Given the description of an element on the screen output the (x, y) to click on. 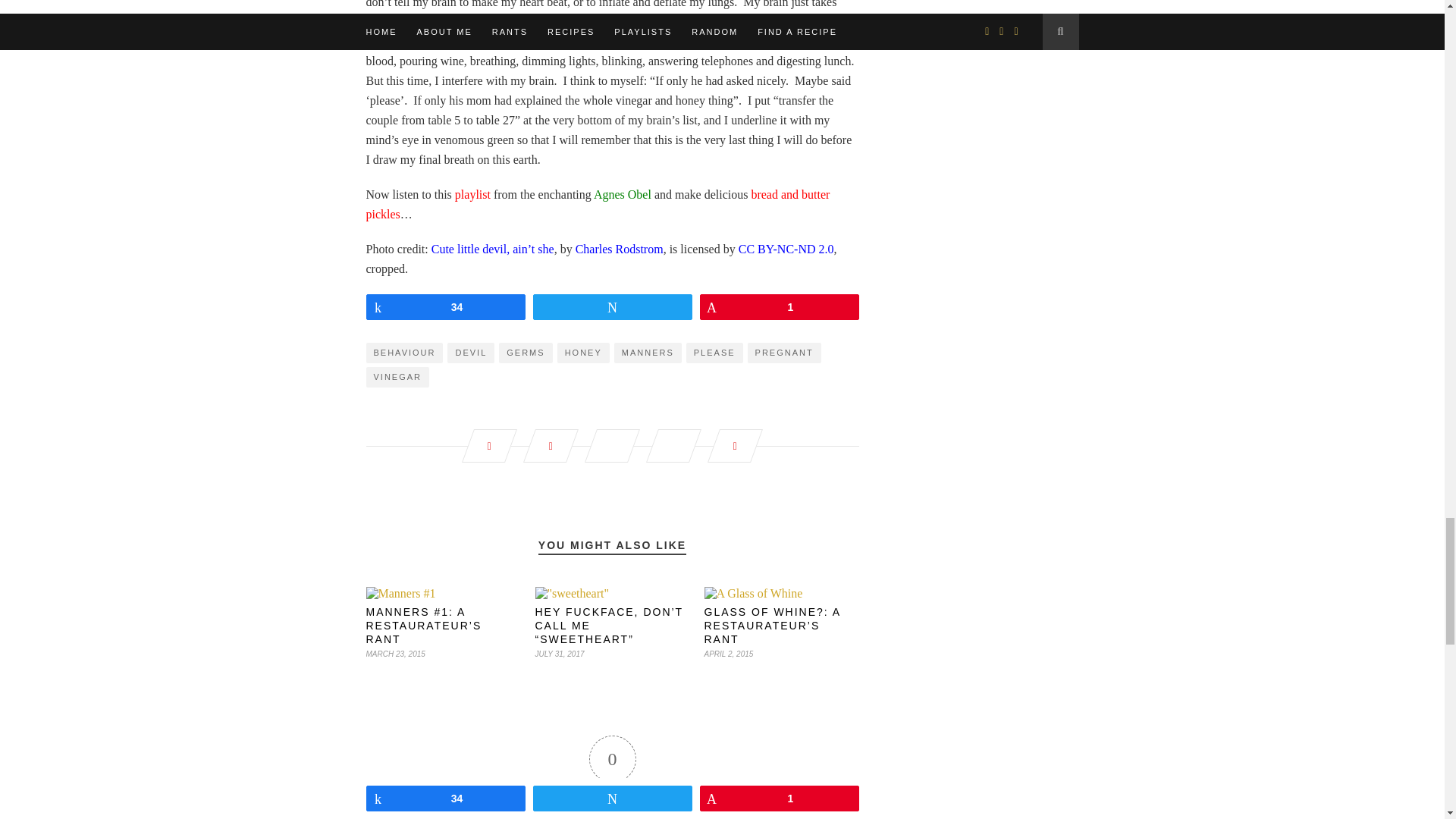
1 (779, 305)
playlist (472, 194)
Agnes Obel (622, 194)
HONEY (583, 353)
Charles Rodstrom (619, 248)
GERMS (525, 353)
DEVIL (470, 353)
PREGNANT (784, 353)
BEHAVIOUR (403, 353)
CC BY-NC-ND 2.0 (786, 248)
34 (445, 305)
MANNERS (647, 353)
VINEGAR (397, 376)
PLEASE (713, 353)
bread and butter pickles (597, 204)
